Given the description of an element on the screen output the (x, y) to click on. 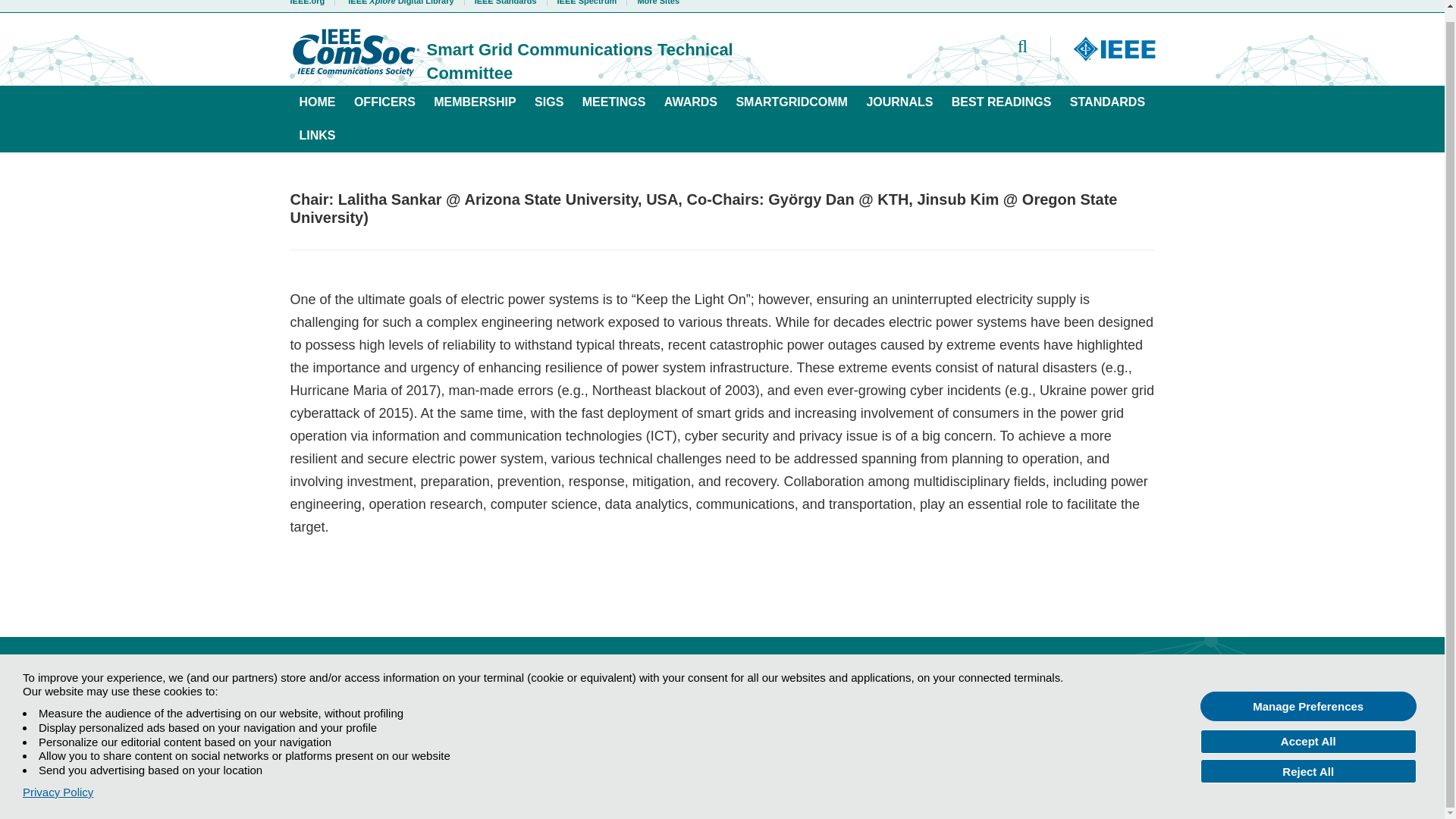
IEEE Xplore Digital Library (400, 2)
IEEE.org (311, 2)
SMARTGRIDCOMM (791, 102)
LINKS (316, 135)
HOME (309, 688)
Manage Preferences (1307, 695)
IEEE Standards (505, 2)
IEEE Spectrum (587, 2)
More Sites (653, 2)
AWARDS (690, 102)
STANDARDS (1107, 102)
Reject All (1307, 759)
BEST READINGS (1001, 102)
HOME (316, 102)
